Given the description of an element on the screen output the (x, y) to click on. 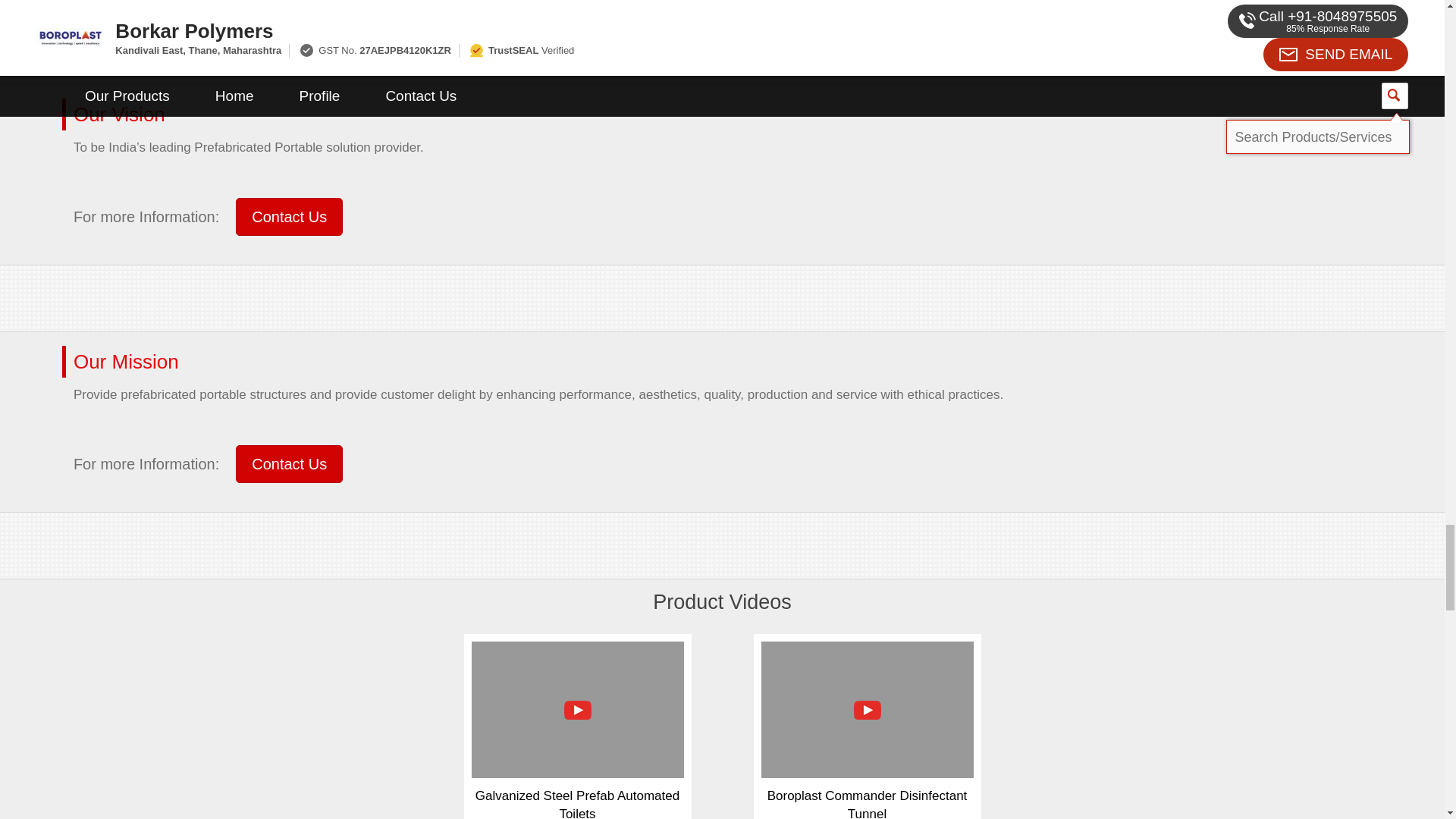
Boroplast Commander Disinfectant Tunnel (867, 803)
Galvanized Steel Prefab Automated Toilets (577, 803)
